Given the description of an element on the screen output the (x, y) to click on. 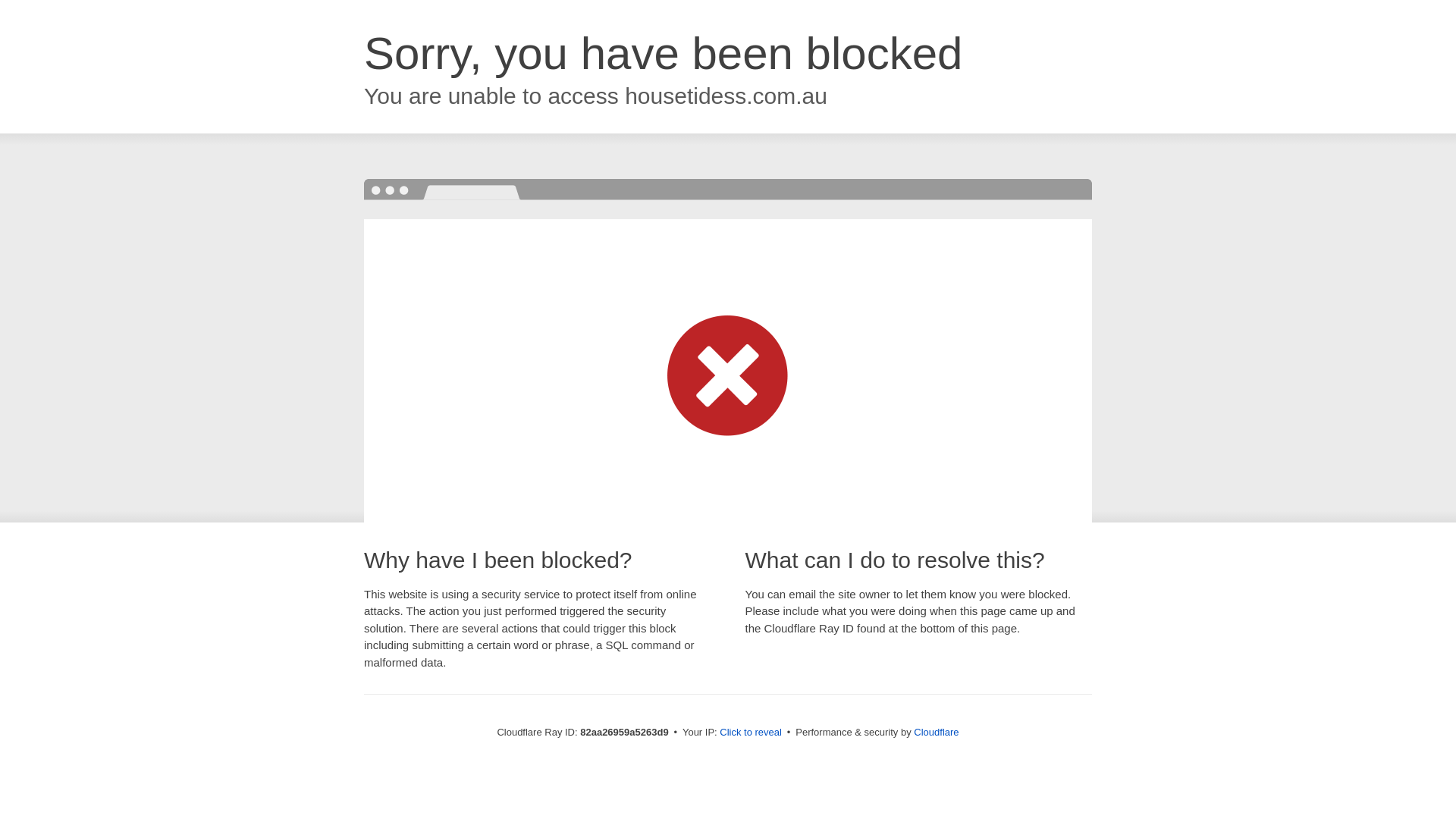
Click to reveal Element type: text (750, 732)
Cloudflare Element type: text (935, 731)
